Given the description of an element on the screen output the (x, y) to click on. 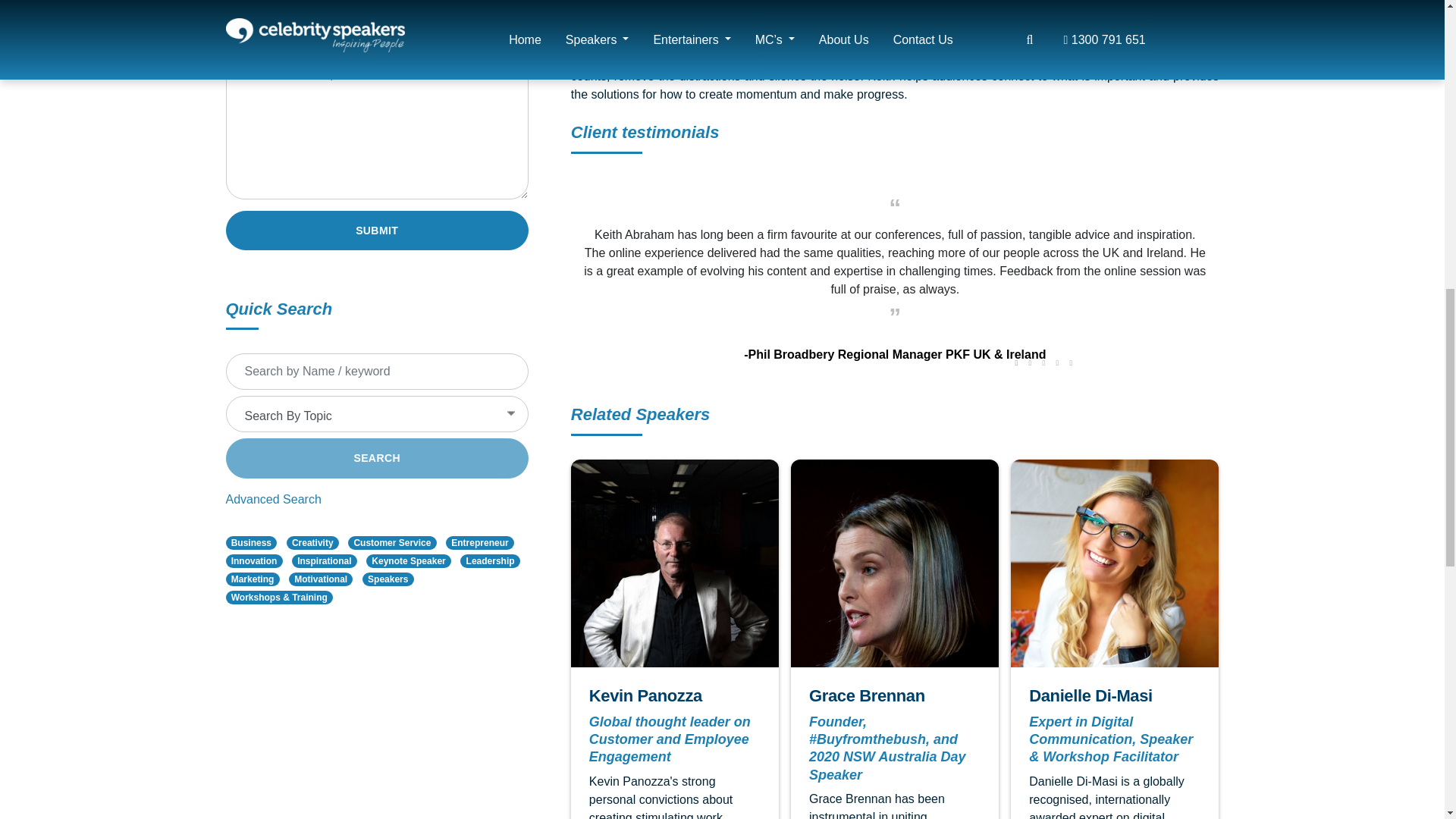
Submit (376, 230)
Search (376, 457)
